Given the description of an element on the screen output the (x, y) to click on. 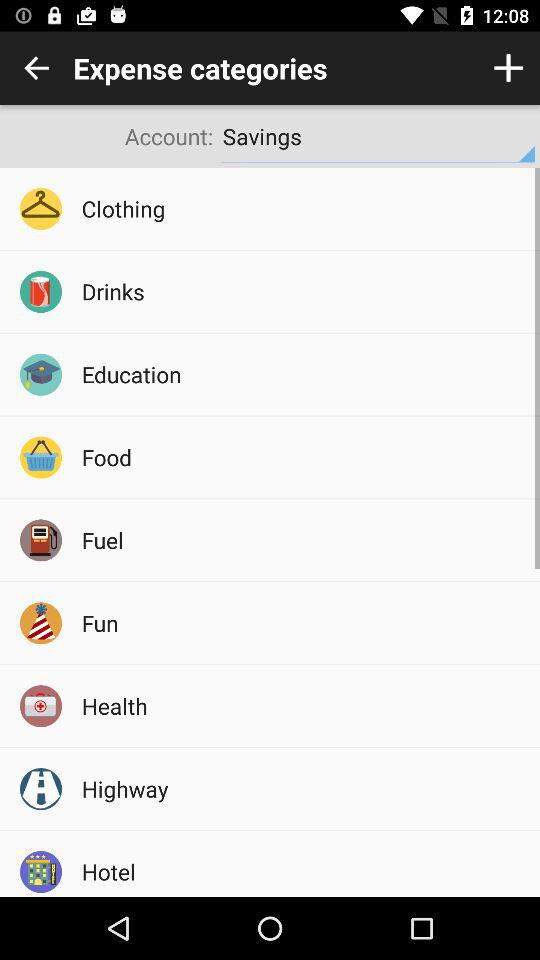
turn off education item (303, 374)
